Given the description of an element on the screen output the (x, y) to click on. 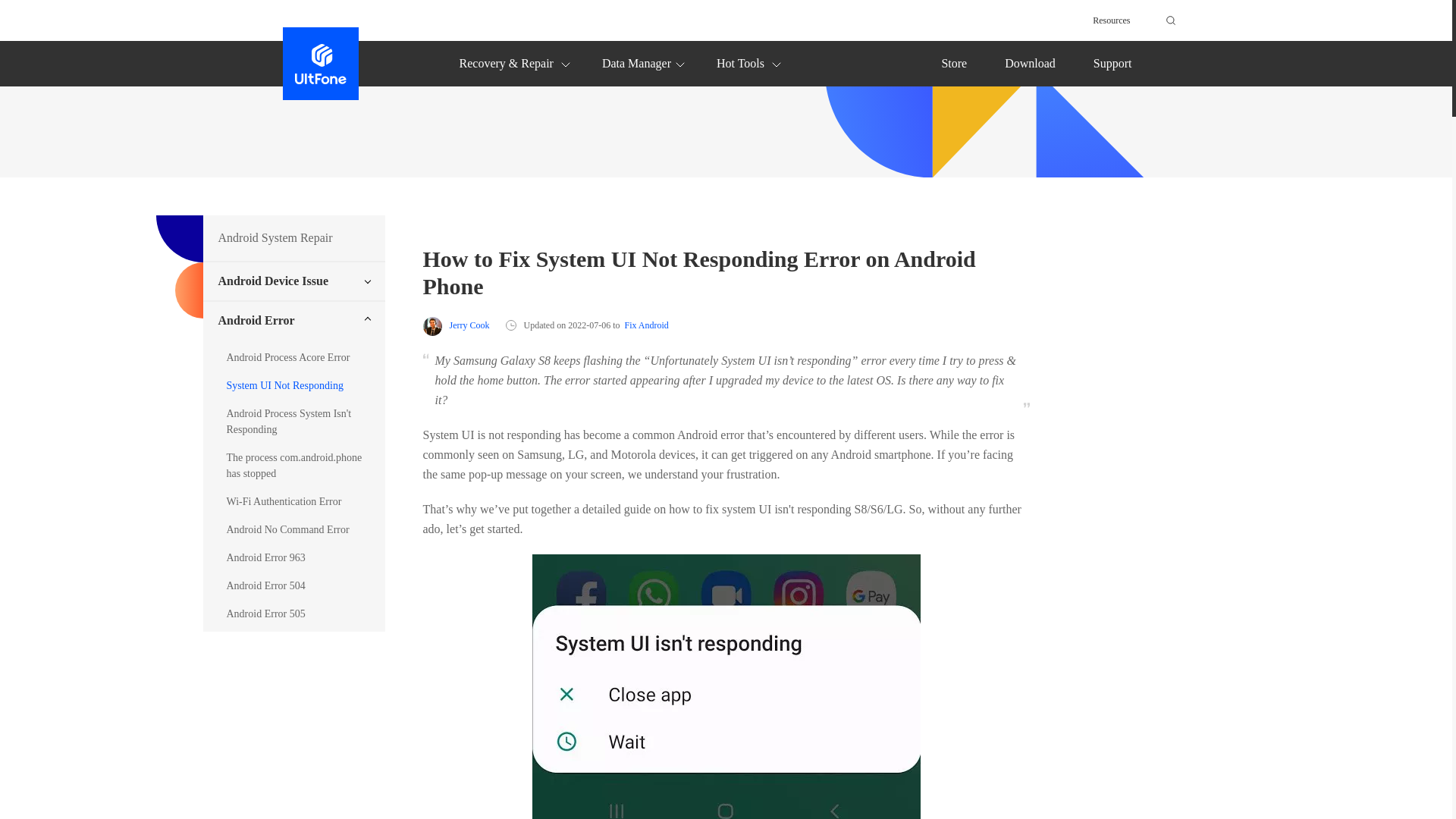
submit button (1167, 20)
submit button (1167, 20)
Download (1029, 62)
Jerry Cook (456, 325)
submit button (1167, 20)
Support (1112, 62)
Resources (1111, 20)
Store (953, 62)
